Given the description of an element on the screen output the (x, y) to click on. 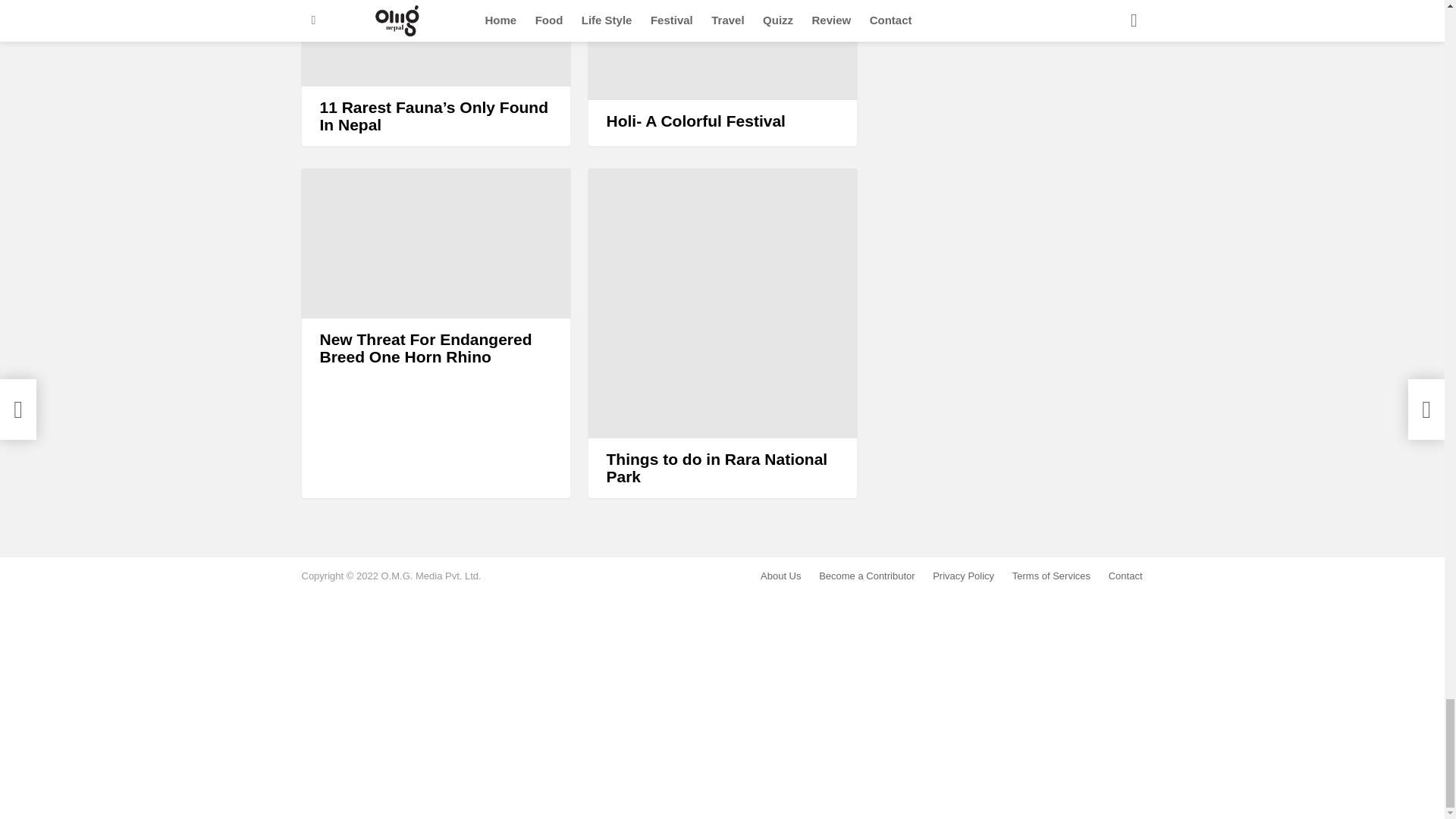
Things to do in Rara National Park (721, 303)
Holi- A Colorful Festival (721, 49)
New Threat For Endangered Breed One Horn Rhino (434, 243)
